Given the description of an element on the screen output the (x, y) to click on. 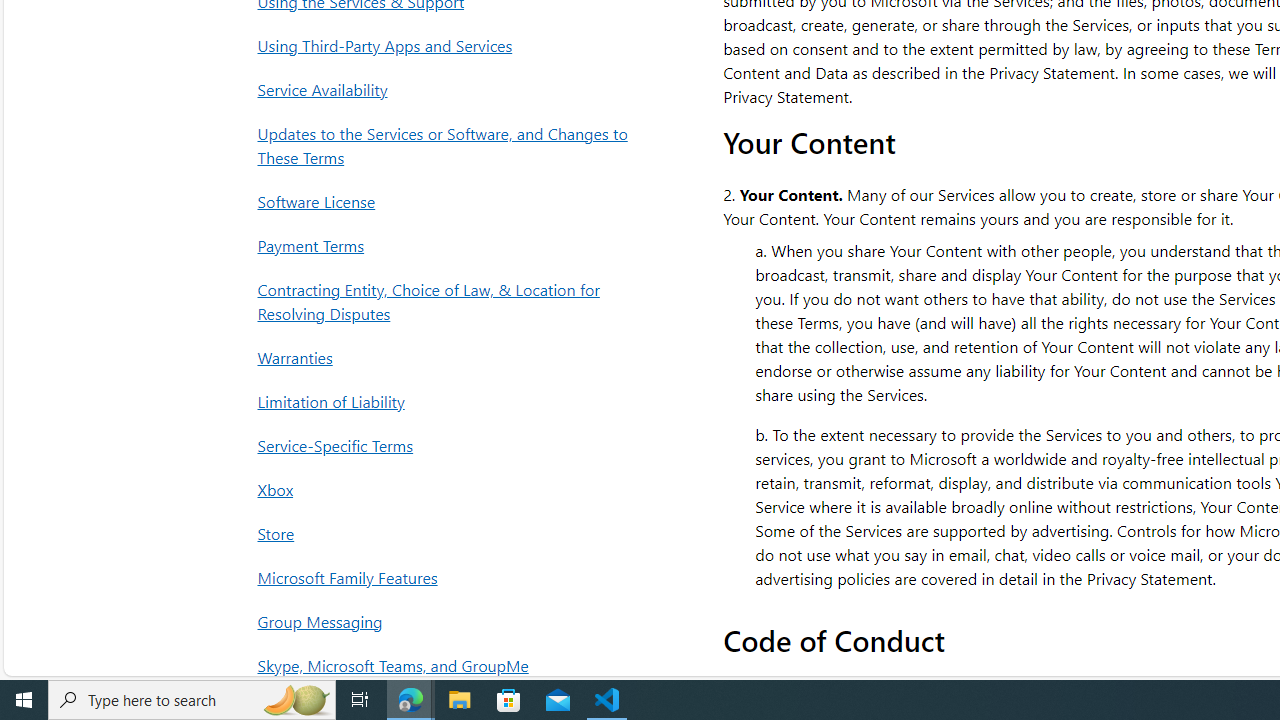
Microsoft Family Features (448, 577)
Store (448, 533)
Limitation of Liability (448, 400)
Group Messaging (448, 621)
Payment Terms (448, 245)
Software License (448, 200)
Service-Specific Terms (448, 444)
Service Availability (448, 89)
Skype, Microsoft Teams, and GroupMe (448, 665)
Xbox (448, 488)
Warranties (448, 357)
Using Third-Party Apps and Services (448, 45)
